Given the description of an element on the screen output the (x, y) to click on. 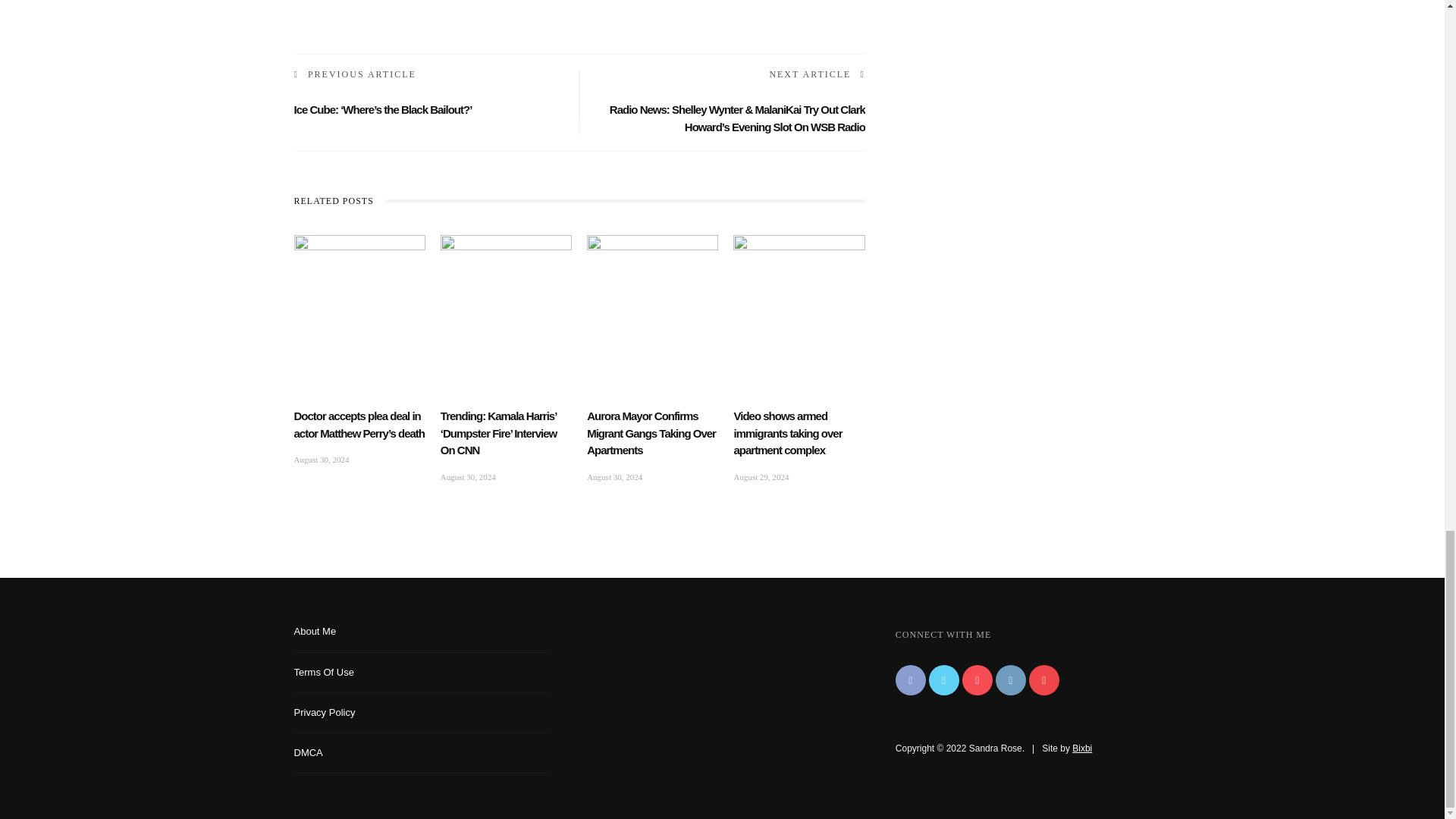
Aurora Mayor Confirms Migrant Gangs Taking Over Apartments (651, 432)
Video shows armed immigrants taking over apartment complex (787, 432)
Video shows armed immigrants taking over apartment complex (798, 273)
Aurora Mayor Confirms Migrant Gangs Taking Over Apartments (651, 273)
